Given the description of an element on the screen output the (x, y) to click on. 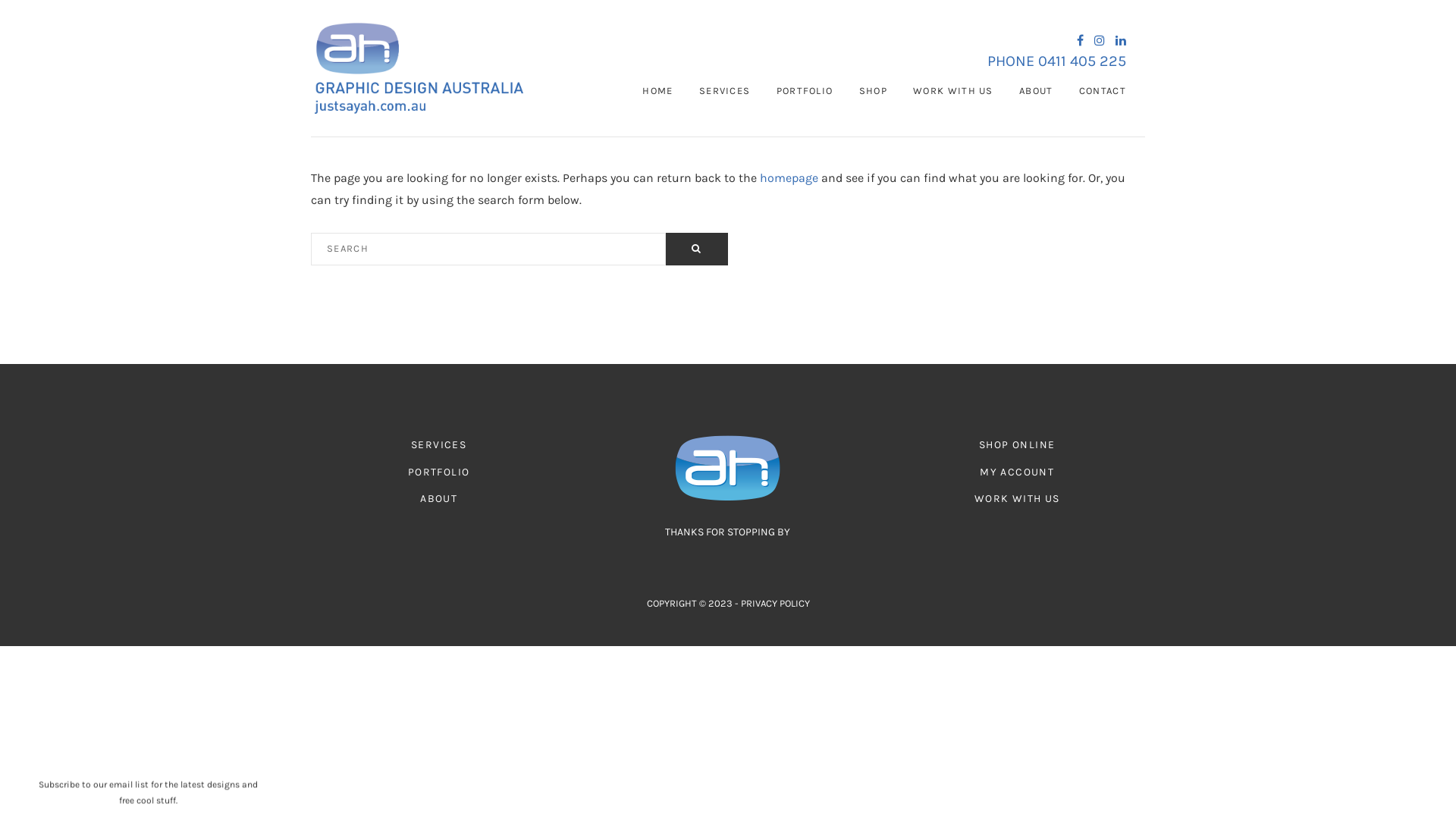
ABOUT Element type: text (438, 498)
PRIVACY POLICY Element type: text (774, 602)
WORK WITH US Element type: text (1017, 498)
homepage Element type: text (788, 177)
SHOP ONLINE Element type: text (1016, 444)
MY ACCOUNT Element type: text (1016, 471)
Skip to primary navigation Element type: text (310, 22)
HOME Element type: text (657, 90)
PORTFOLIO Element type: text (438, 471)
SERVICES Element type: text (724, 90)
PORTFOLIO Element type: text (804, 90)
WORK WITH US Element type: text (952, 90)
ABOUT Element type: text (1035, 90)
Just Say Ah! Element type: text (446, 67)
CONTACT Element type: text (1102, 90)
SHOP Element type: text (872, 90)
SERVICES Element type: text (438, 444)
